Given the description of an element on the screen output the (x, y) to click on. 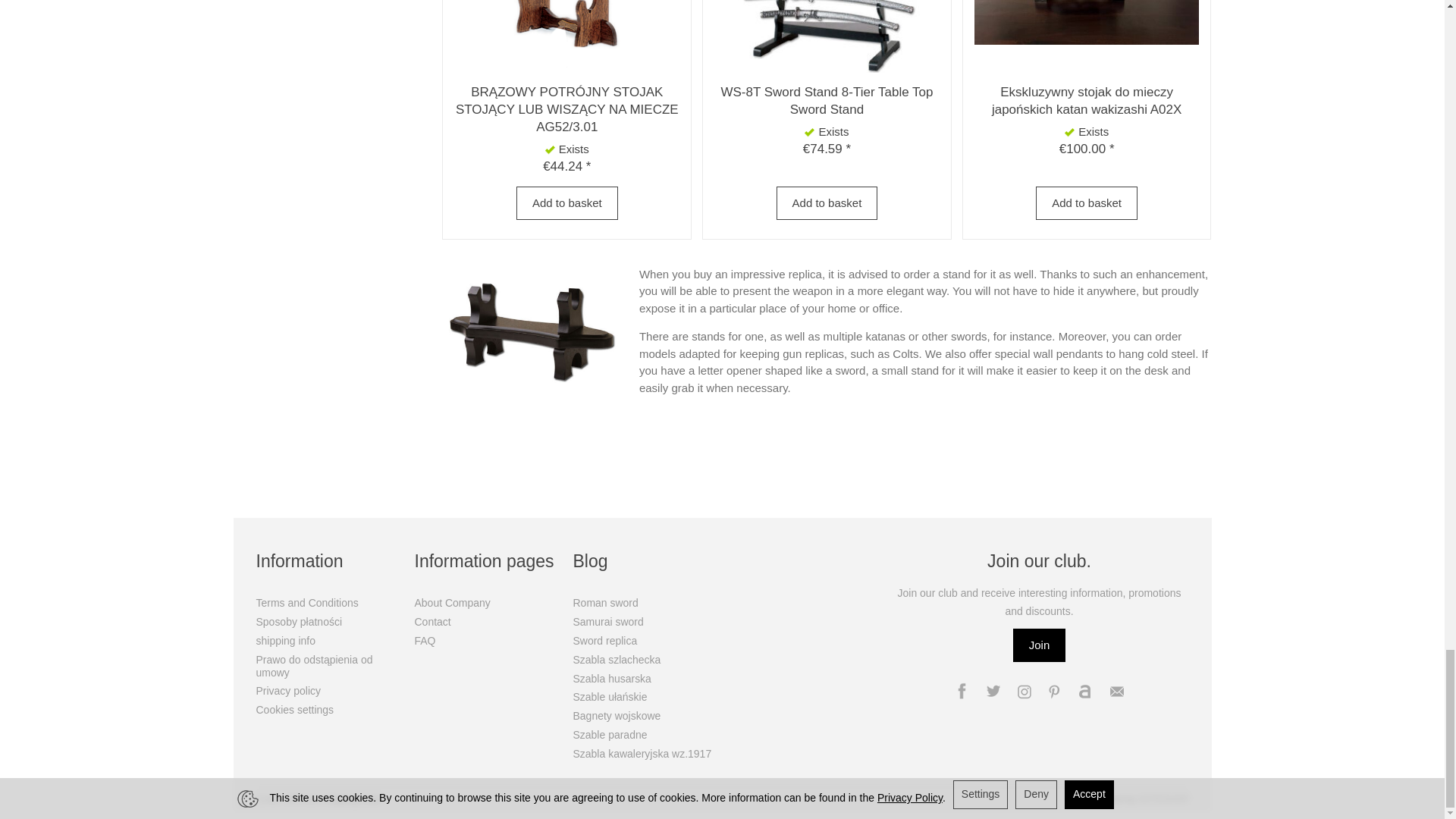
SOTESHOP (1163, 798)
